Given the description of an element on the screen output the (x, y) to click on. 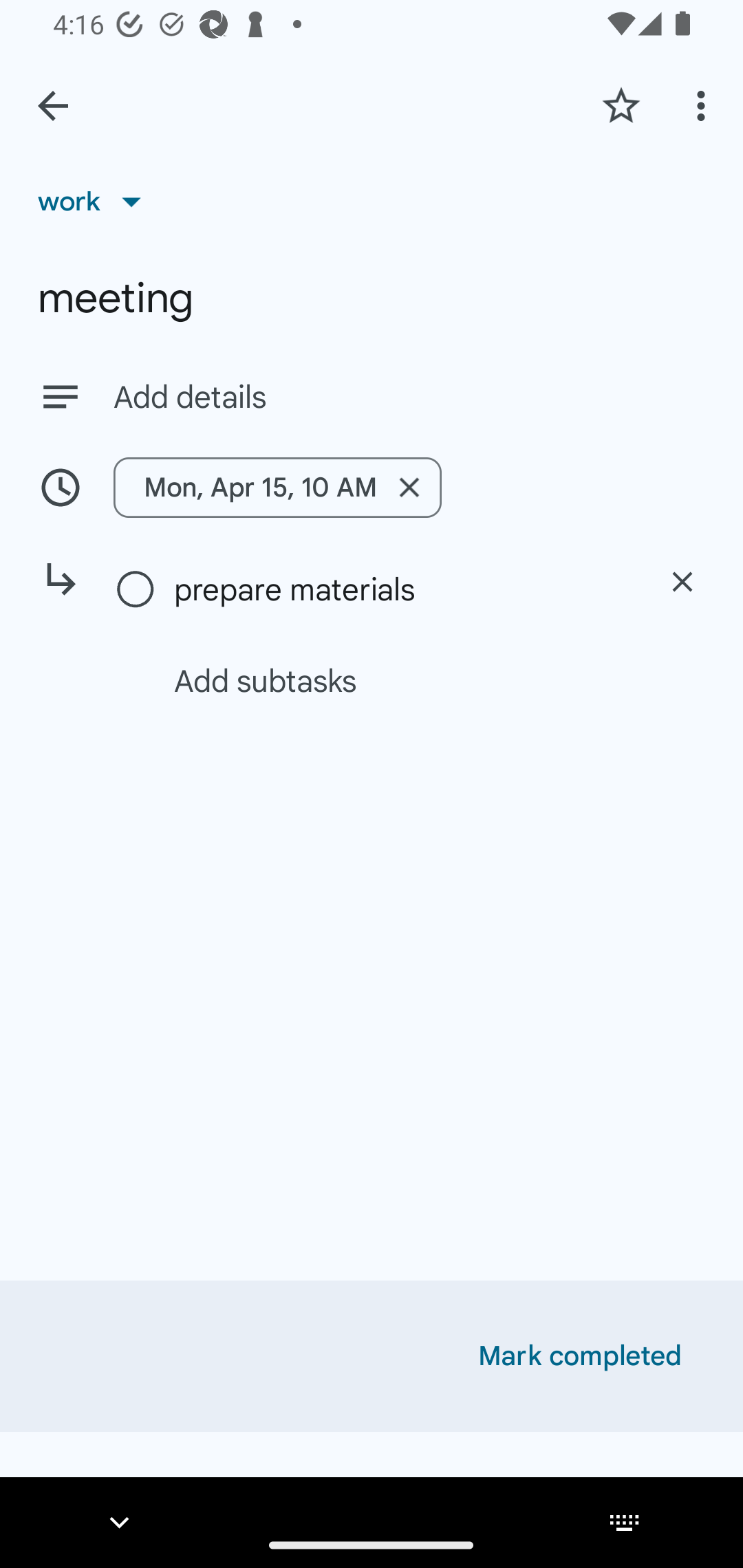
Back (53, 105)
Add star (620, 105)
More options (704, 105)
work List, work selected, 1 of 23 (95, 201)
meeting (371, 298)
Add details (371, 396)
Add details (409, 397)
Mon, Apr 15, 10 AM Remove date/time (371, 487)
Mon, Apr 15, 10 AM Remove date/time (277, 487)
prepare materials (401, 589)
Delete subtask (682, 581)
Mark as complete (136, 590)
Add subtasks (394, 680)
Mark completed (580, 1355)
